Given the description of an element on the screen output the (x, y) to click on. 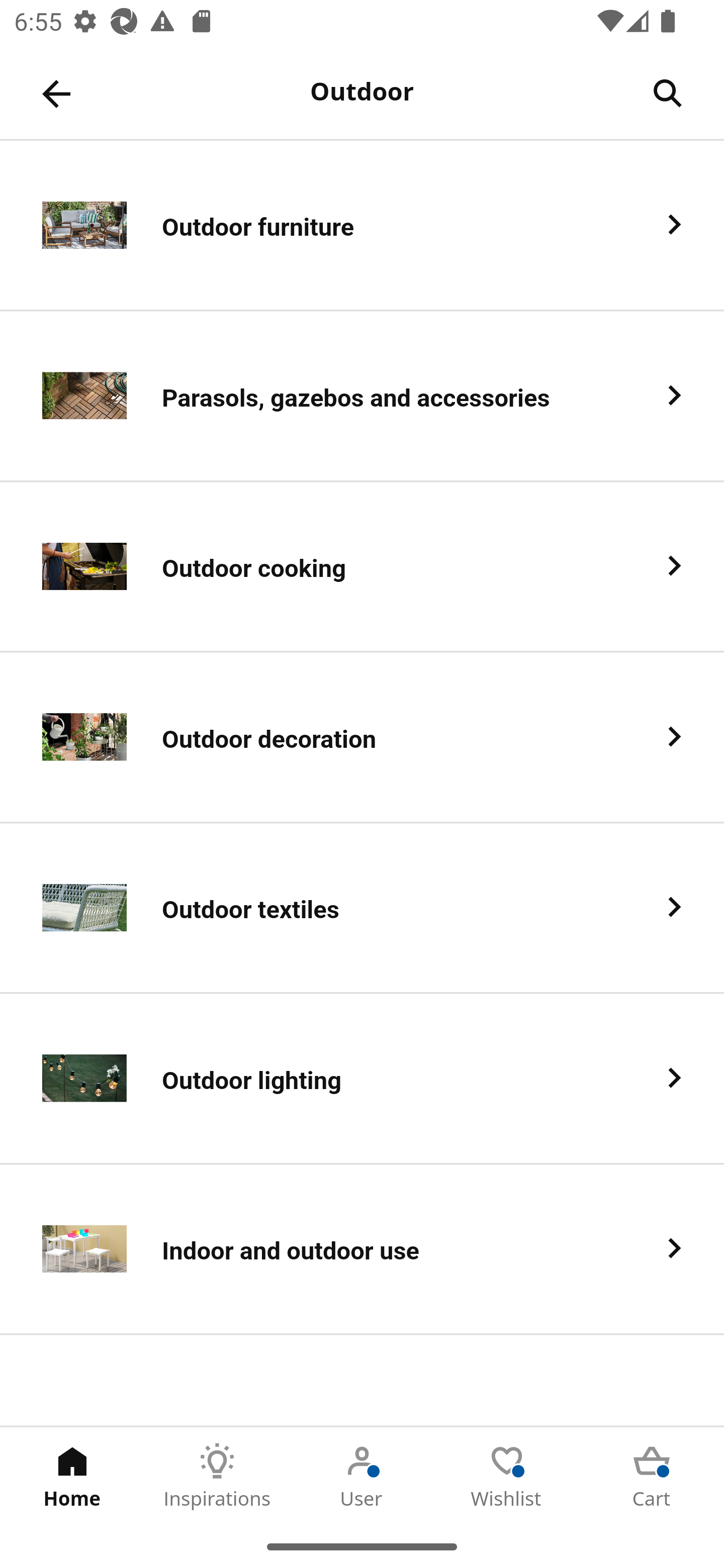
Outdoor furniture (362, 226)
Parasols, gazebos and accessories (362, 396)
Outdoor cooking (362, 566)
Outdoor decoration (362, 737)
Outdoor textiles (362, 908)
Outdoor lighting (362, 1079)
Indoor and outdoor use (362, 1250)
Home
Tab 1 of 5 (72, 1476)
Inspirations
Tab 2 of 5 (216, 1476)
User
Tab 3 of 5 (361, 1476)
Wishlist
Tab 4 of 5 (506, 1476)
Cart
Tab 5 of 5 (651, 1476)
